Given the description of an element on the screen output the (x, y) to click on. 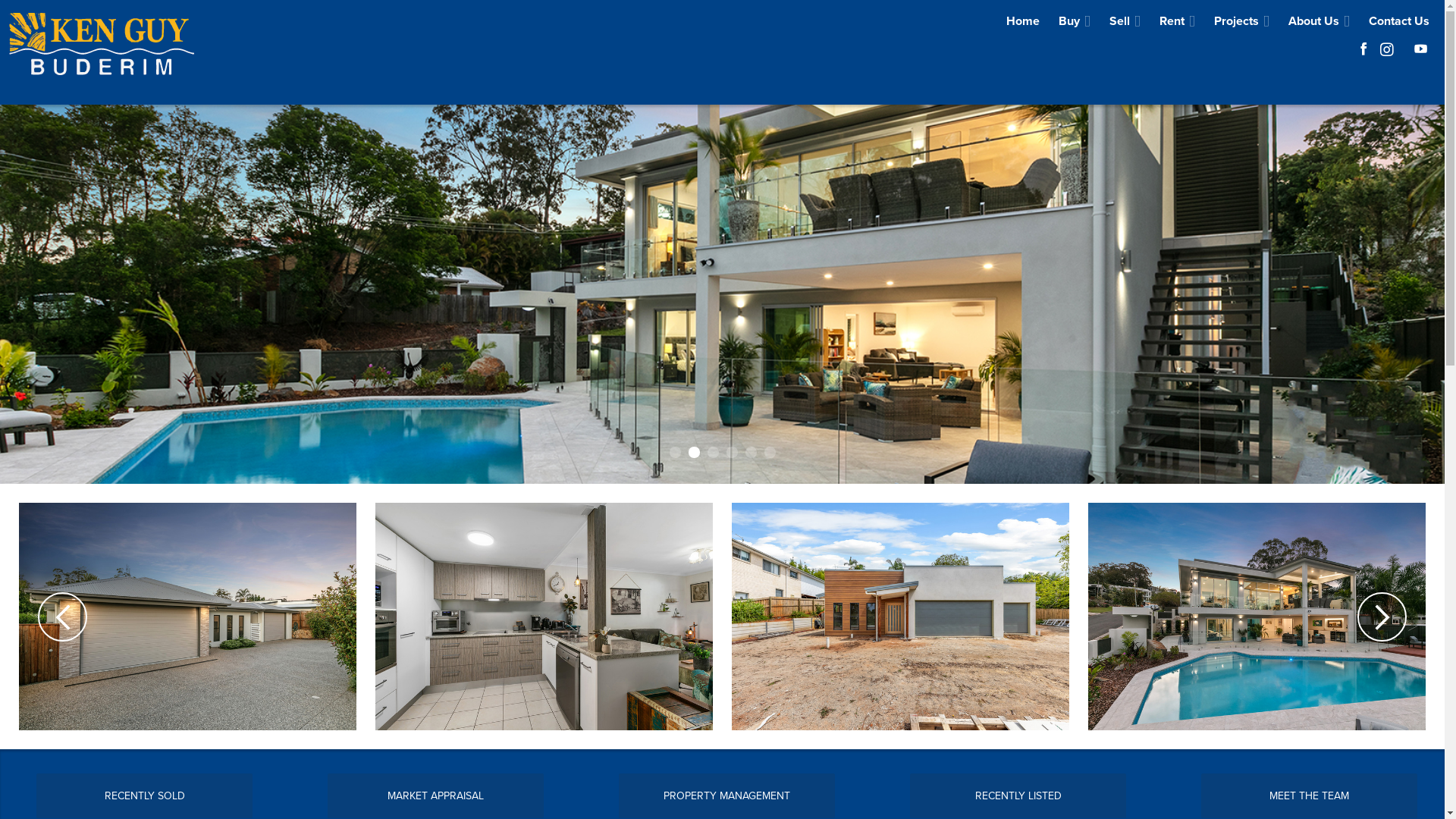
RECENTLY LISTED Element type: text (1018, 795)
RECENTLY SOLD Element type: text (144, 795)
MEET THE TEAM Element type: text (1309, 795)
Home Element type: text (1022, 21)
Contact Us Element type: text (1398, 21)
PROPERTY MANAGEMENT Element type: text (726, 795)
MARKET APPRAISAL Element type: text (435, 795)
